Given the description of an element on the screen output the (x, y) to click on. 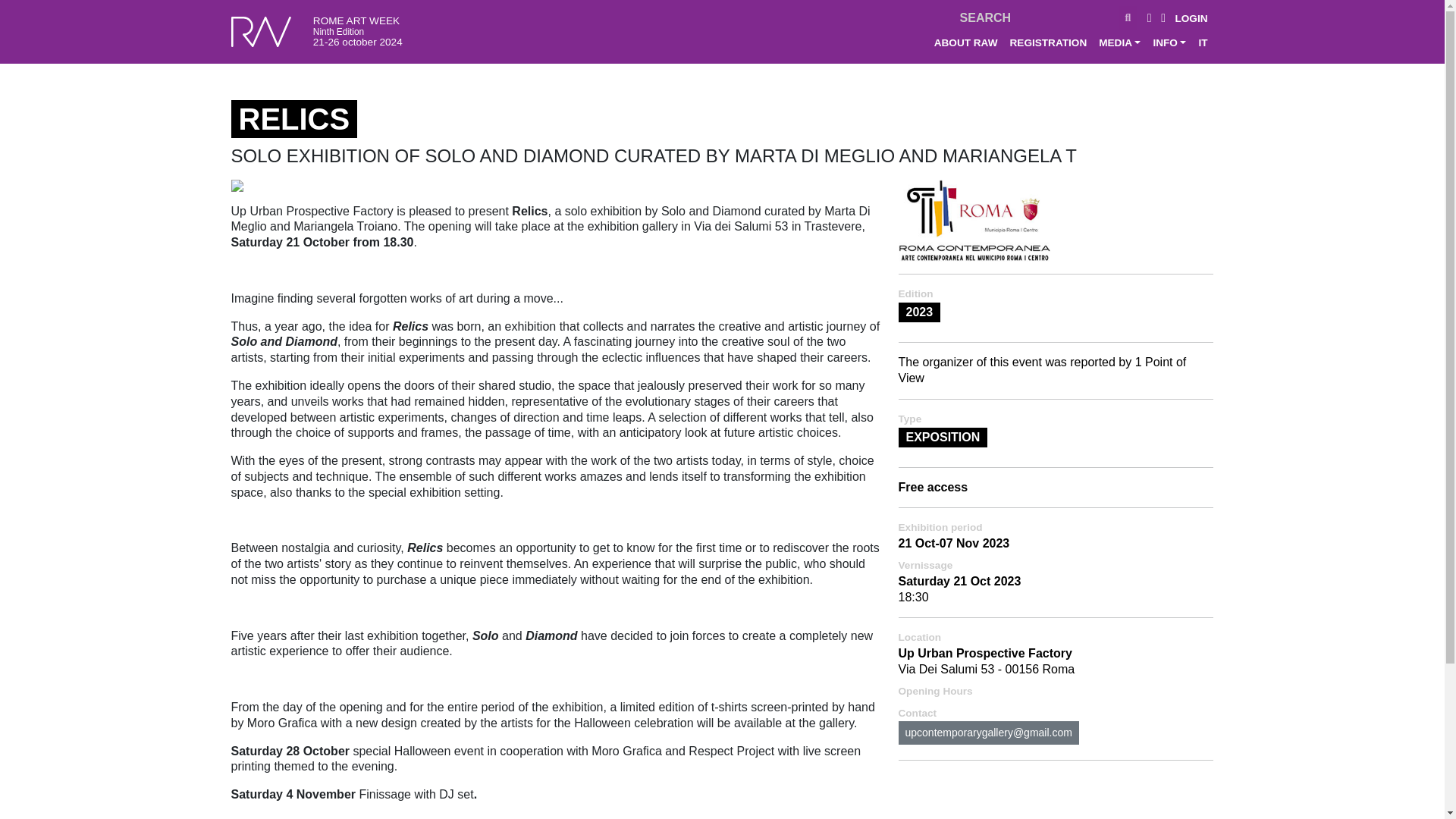
REGISTRATION (1048, 43)
MEDIA (1120, 43)
ABOUT RAW (966, 43)
LOGIN (1190, 17)
RELICS (236, 190)
INFO (1169, 43)
